Given the description of an element on the screen output the (x, y) to click on. 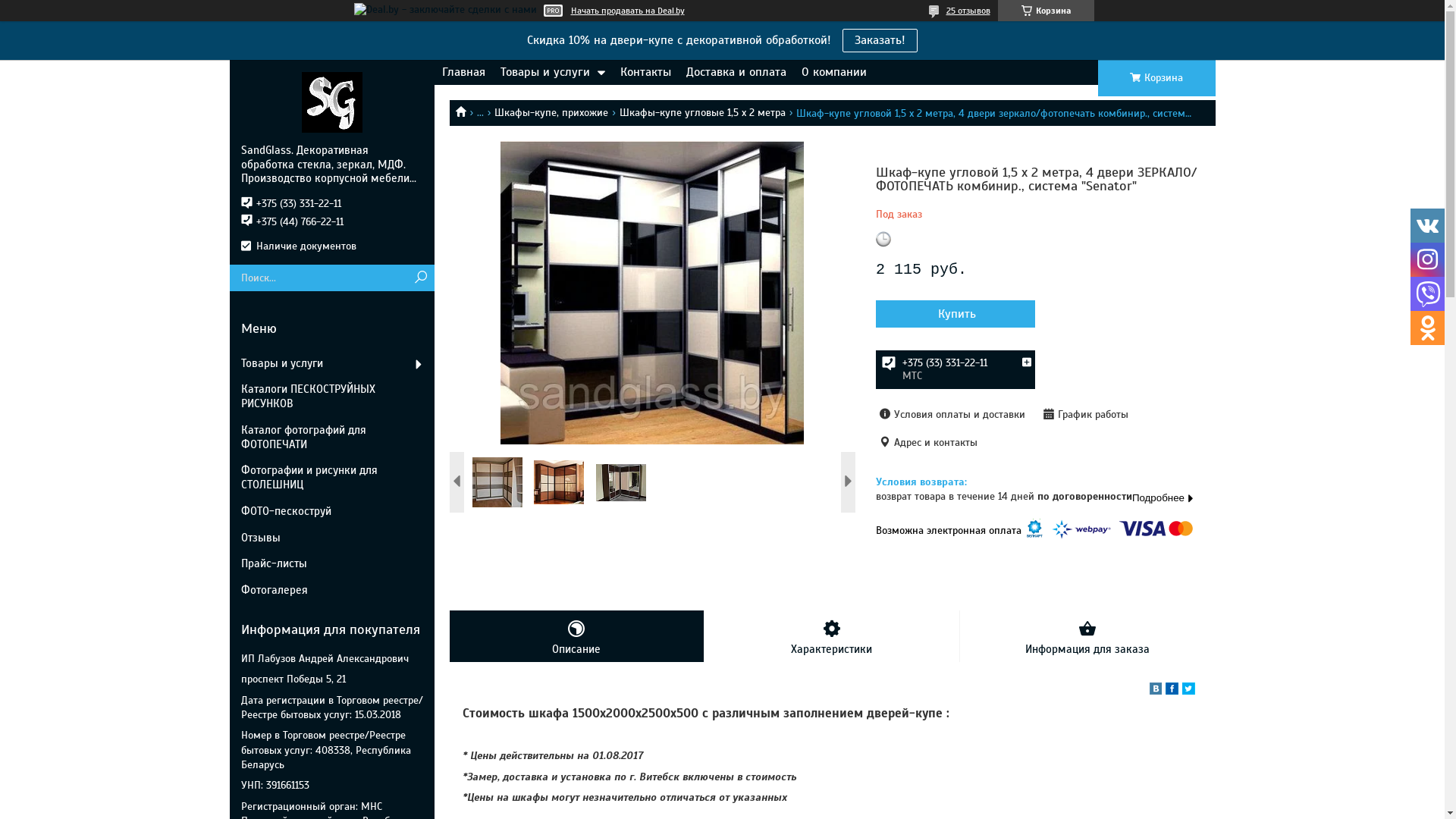
Sandglass Element type: hover (465, 111)
twitter Element type: hover (1187, 690)
facebook Element type: hover (1170, 690)
SandGlass Element type: hover (332, 101)
